Given the description of an element on the screen output the (x, y) to click on. 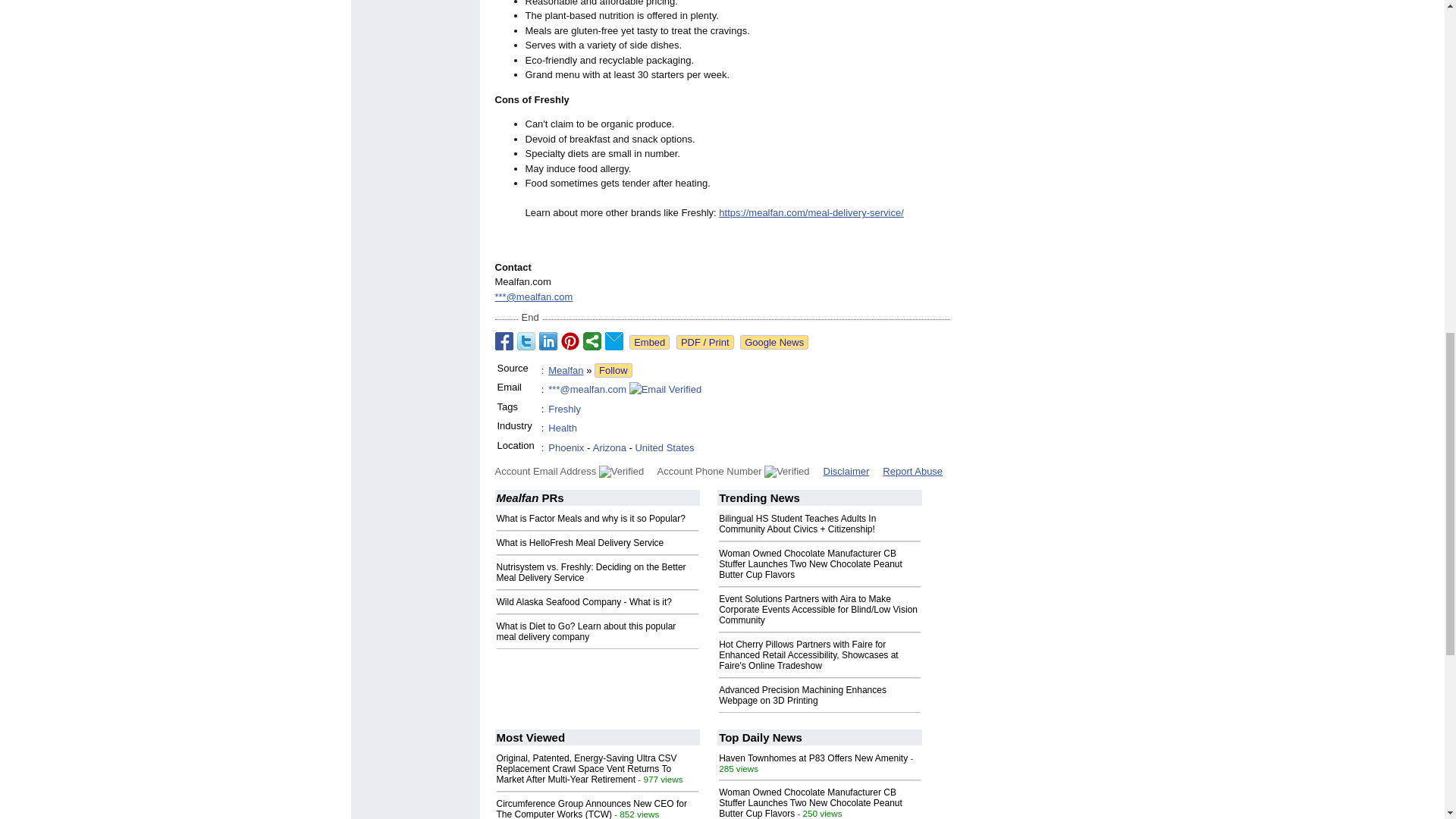
Verified (620, 471)
Share on Facebook (503, 341)
Share on Twitter (525, 341)
Share on Pinterest (569, 341)
Embed this press release in your website! (648, 341)
Email to a Friend (614, 341)
Share on LinkedIn (547, 341)
Share on StumbleUpon, Digg, etc (590, 341)
Verified (786, 471)
Email Verified (664, 389)
See or print the PDF version! (705, 341)
Embed (648, 341)
